Given the description of an element on the screen output the (x, y) to click on. 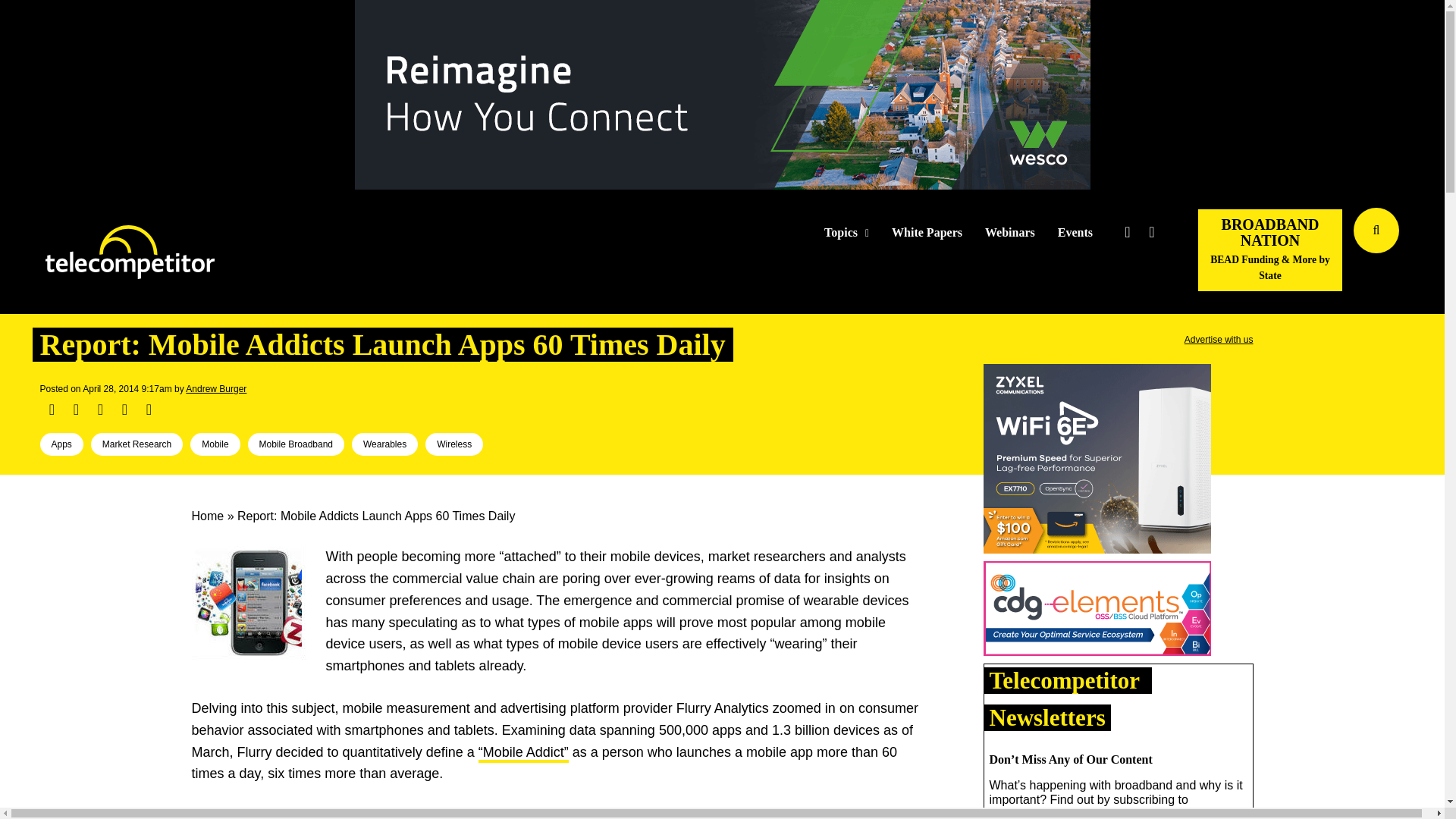
Share on Linked In (99, 409)
Webinars (1010, 232)
Topics (846, 232)
Search telecompetitor.com (1376, 230)
CDG elements (1095, 611)
Events (1074, 232)
Spread the word on Twitter (75, 409)
White Papers (927, 232)
Follow Us on Twitter (1127, 232)
Pinterest (124, 409)
Search (1430, 253)
Share on Facebook (51, 409)
Follow Us on LinkedIN (1151, 232)
Zyxel Switches (1095, 461)
